Given the description of an element on the screen output the (x, y) to click on. 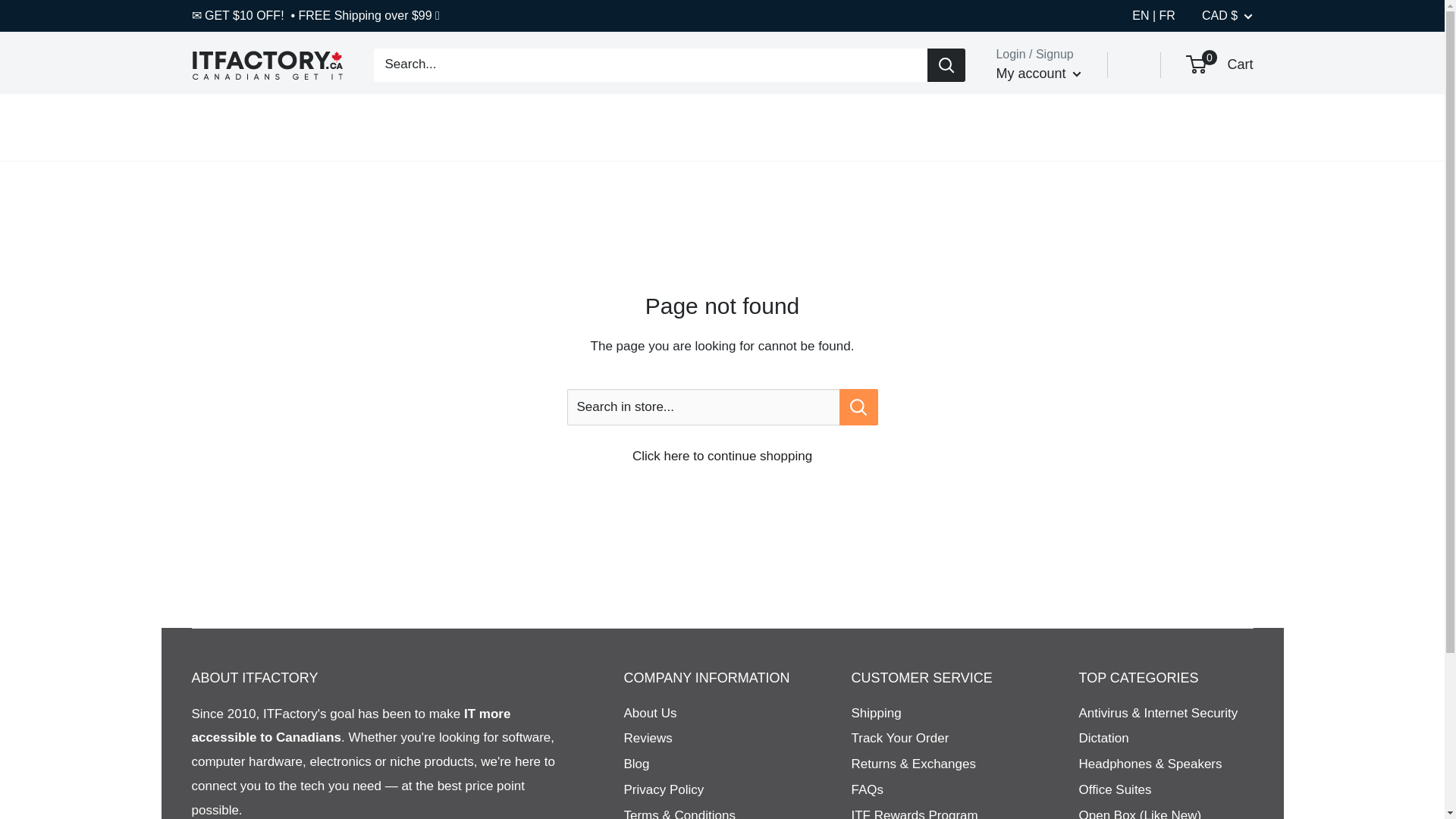
ABOUT ITFACTORY (380, 678)
My account (1038, 73)
Click here to continue shopping (721, 455)
Reviews (710, 738)
Privacy Policy (710, 790)
CAD (1241, 55)
English (1144, 15)
USD (1220, 64)
Blog (1241, 79)
About Us (710, 764)
COMPANY INFORMATION (710, 713)
